Given the description of an element on the screen output the (x, y) to click on. 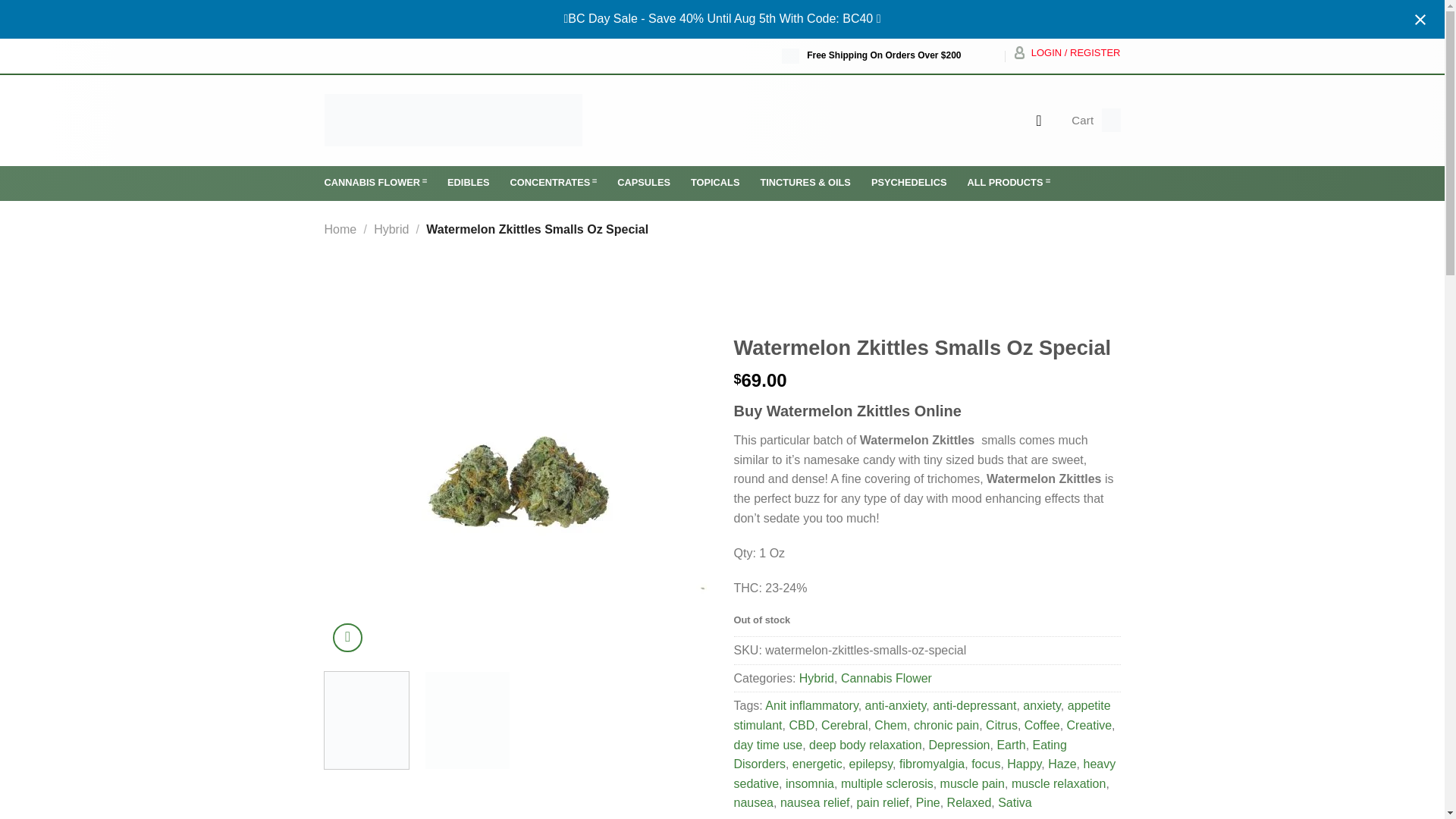
TOPICALS (714, 182)
Hybrid (391, 228)
PSYCHEDELICS (908, 182)
CAPSULES (643, 182)
Zkittle smalls bag scaled (904, 454)
Cart (1095, 119)
CANNABIS FLOWER (376, 183)
CONCENTRATES (553, 183)
ALL PRODUCTS (1007, 183)
Zkittles Smalls bud scaled (517, 493)
Zoom (347, 637)
Cart (1095, 119)
EDIBLES (467, 182)
Home (340, 228)
